Given the description of an element on the screen output the (x, y) to click on. 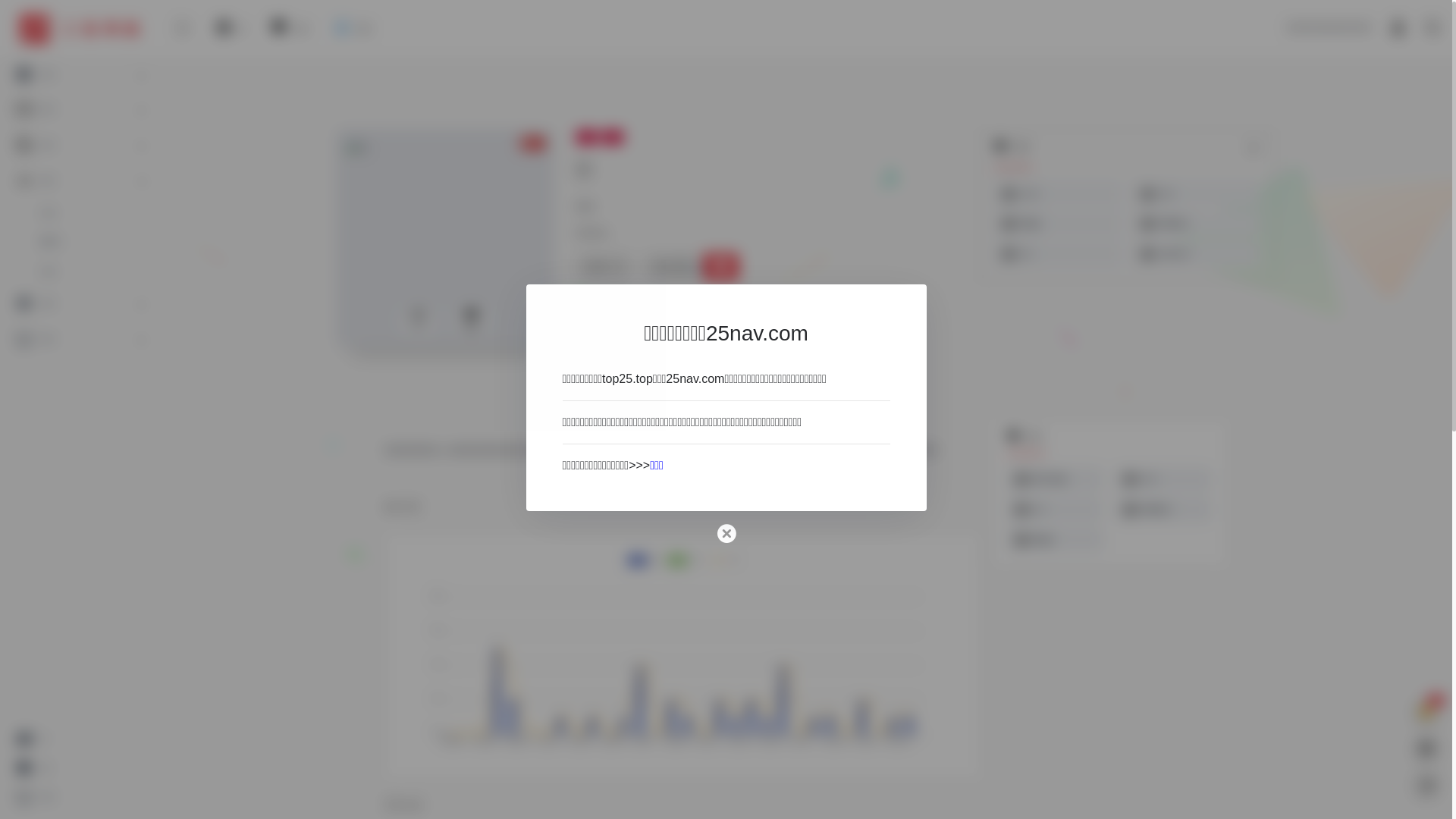
552 Element type: text (470, 320)
top25.top Element type: text (627, 378)
0 Element type: text (417, 320)
SCI-Hub Element type: text (1055, 479)
iData Element type: text (1057, 224)
iData Element type: text (1055, 539)
25nav.com Element type: text (694, 378)
